Given the description of an element on the screen output the (x, y) to click on. 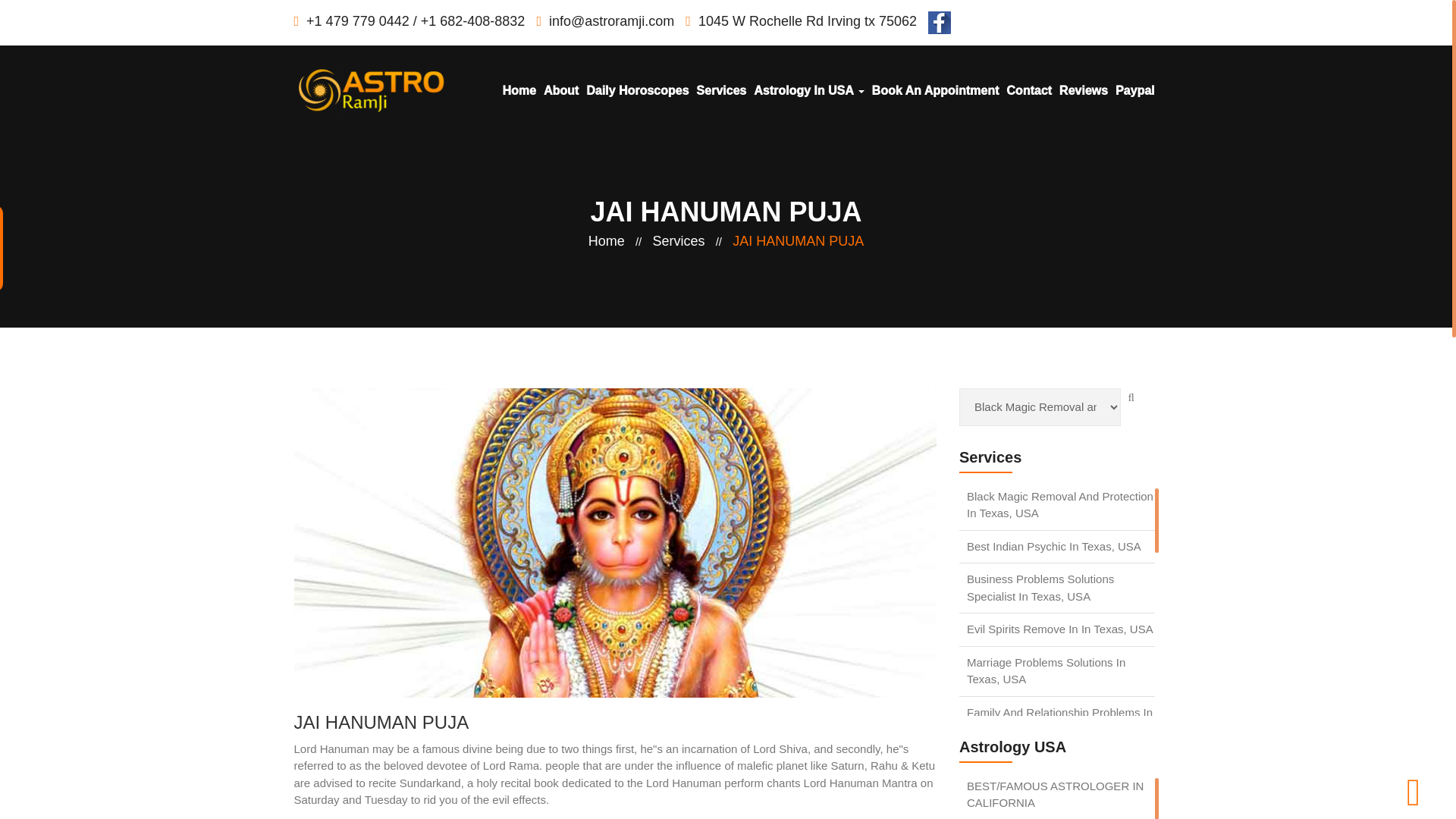
Daily Horoscopes (637, 90)
Astrology In USA (808, 90)
Logo (371, 91)
1045 W Rochelle Rd Irving tx 75062 (801, 20)
